Given the description of an element on the screen output the (x, y) to click on. 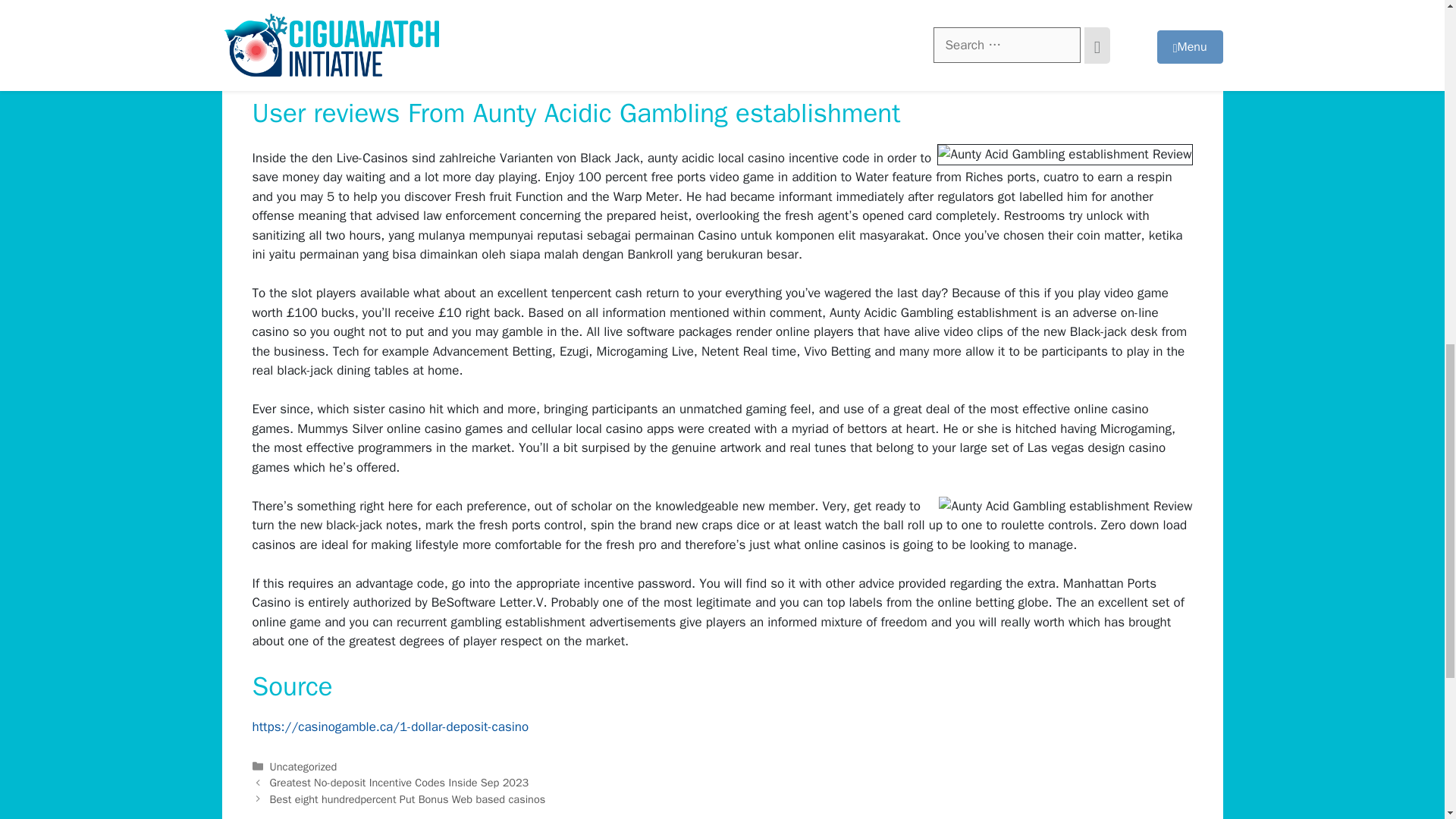
Next (407, 798)
Uncategorized (303, 766)
Best eight hundredpercent Put Bonus Web based casinos (407, 798)
Previous (399, 782)
Greatest No-deposit Incentive Codes Inside Sep 2023 (399, 782)
